Given the description of an element on the screen output the (x, y) to click on. 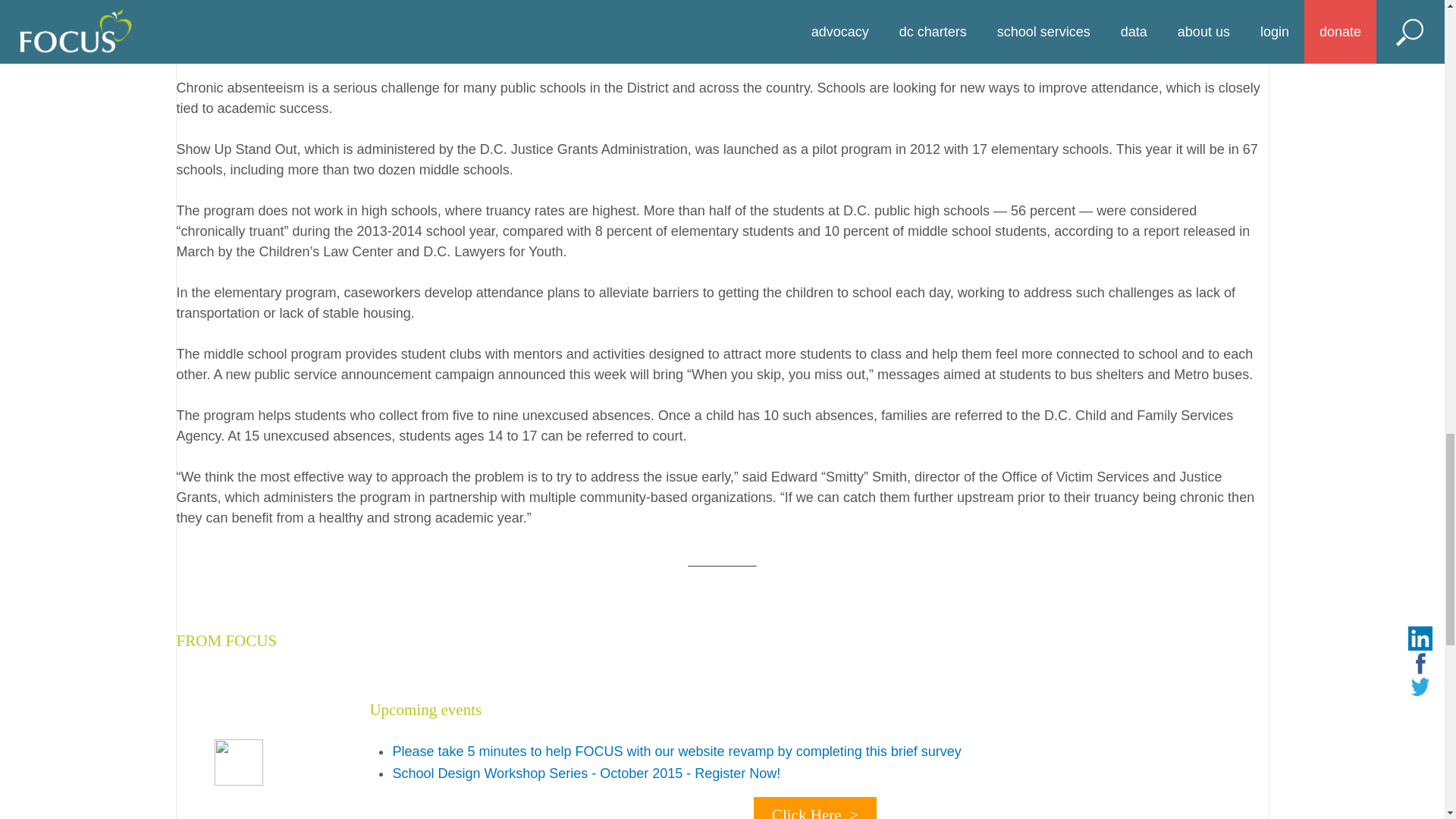
School Design Workshop Series - October 2015 - Register Now! (585, 773)
